Given the description of an element on the screen output the (x, y) to click on. 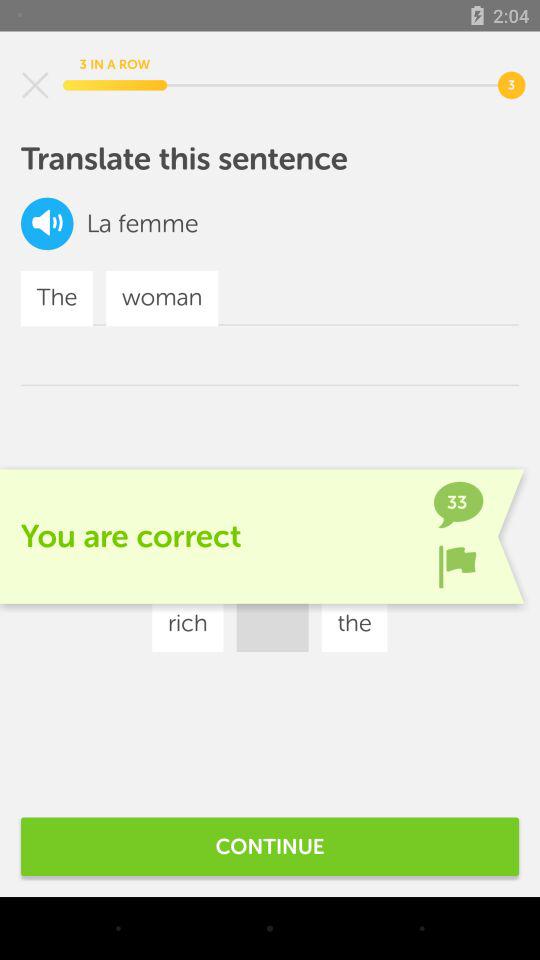
turn on the la icon (98, 223)
